Given the description of an element on the screen output the (x, y) to click on. 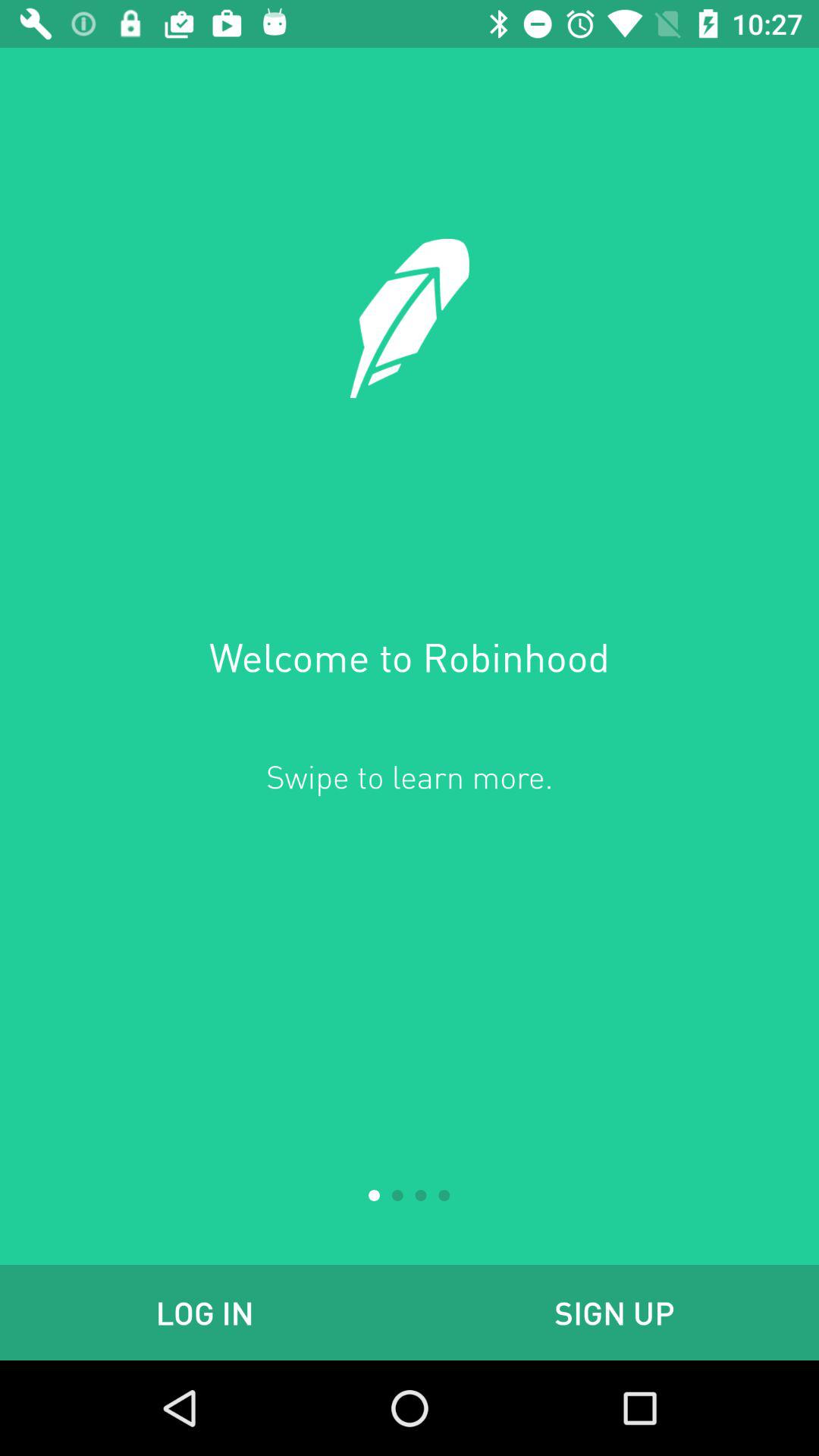
choose the log in at the bottom left corner (204, 1312)
